Given the description of an element on the screen output the (x, y) to click on. 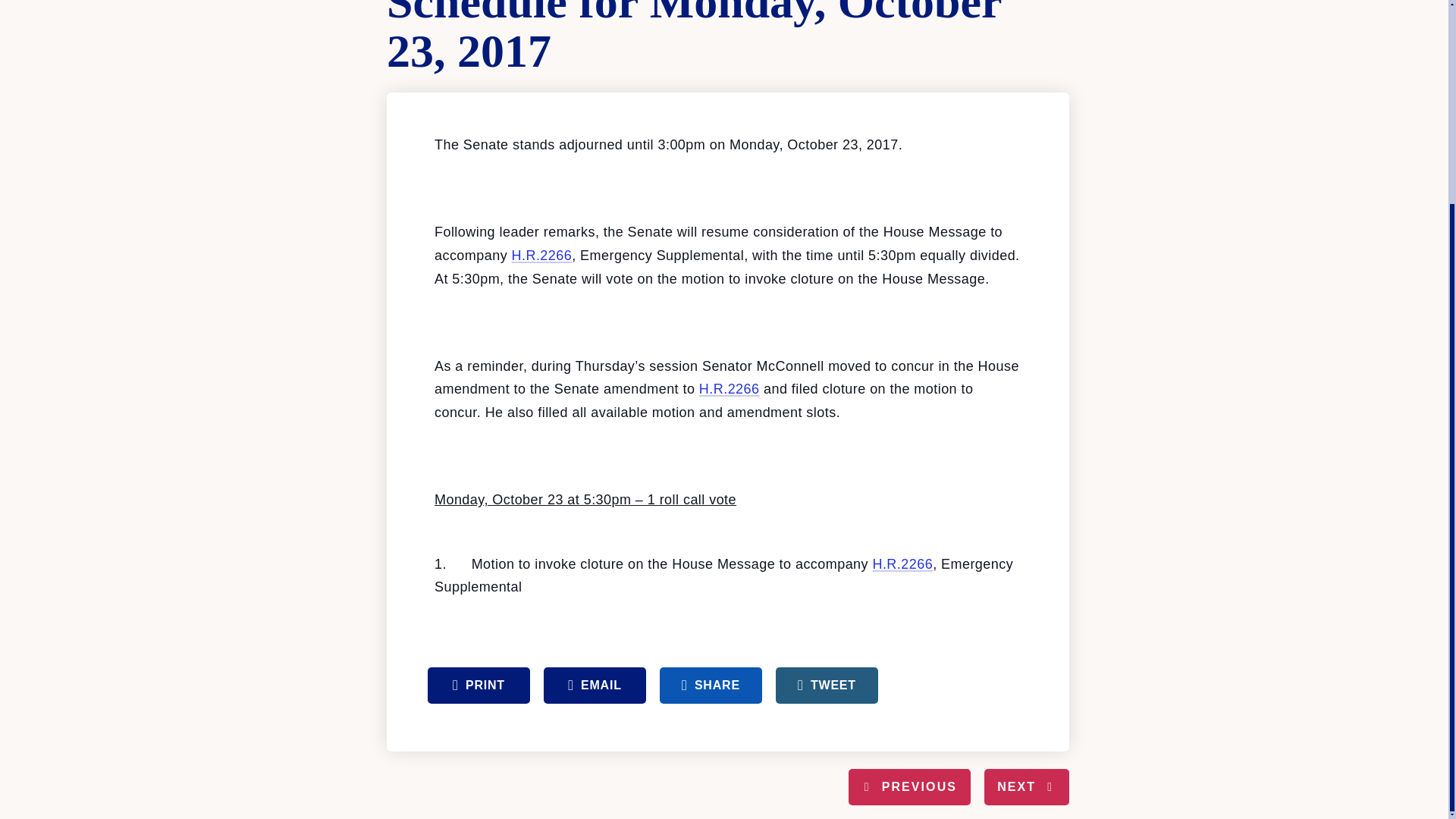
PREVIOUS (909, 787)
TWEET (826, 685)
H.R.2266 (902, 563)
PRINT (478, 685)
NEXT (1026, 787)
SHARE (710, 685)
H.R.2266 (729, 388)
EMAIL (594, 685)
H.R.2266 (542, 255)
